Given the description of an element on the screen output the (x, y) to click on. 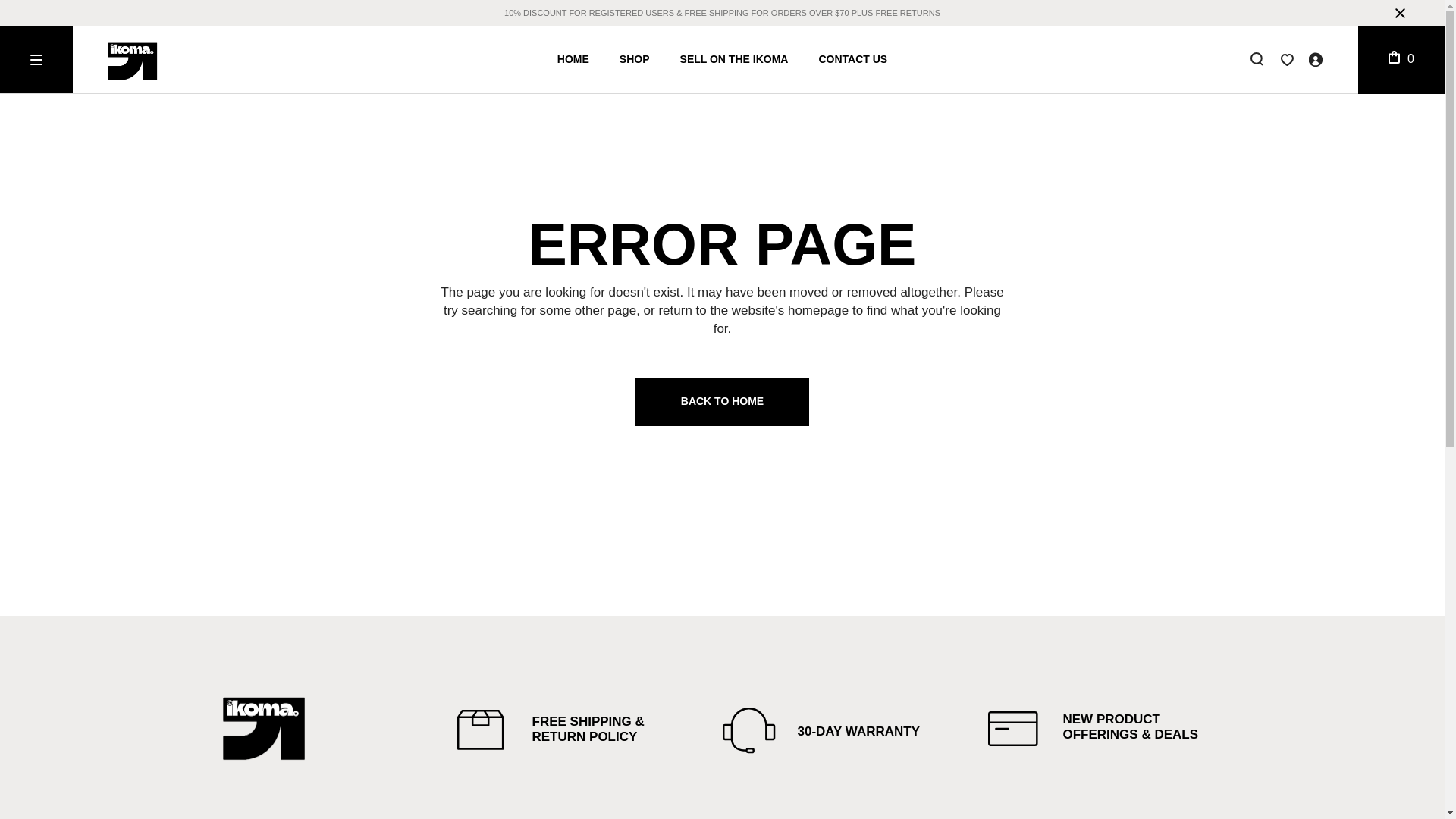
SELL ON THE IKOMA (734, 59)
0 (1401, 59)
CONTACT US (852, 59)
BACK TO HOME (721, 401)
